Given the description of an element on the screen output the (x, y) to click on. 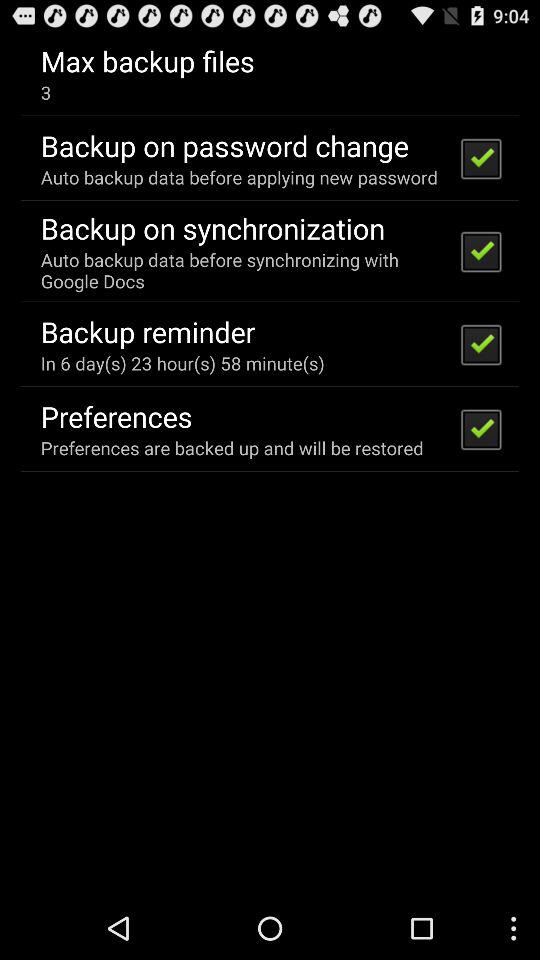
swipe to the 3 app (45, 92)
